Given the description of an element on the screen output the (x, y) to click on. 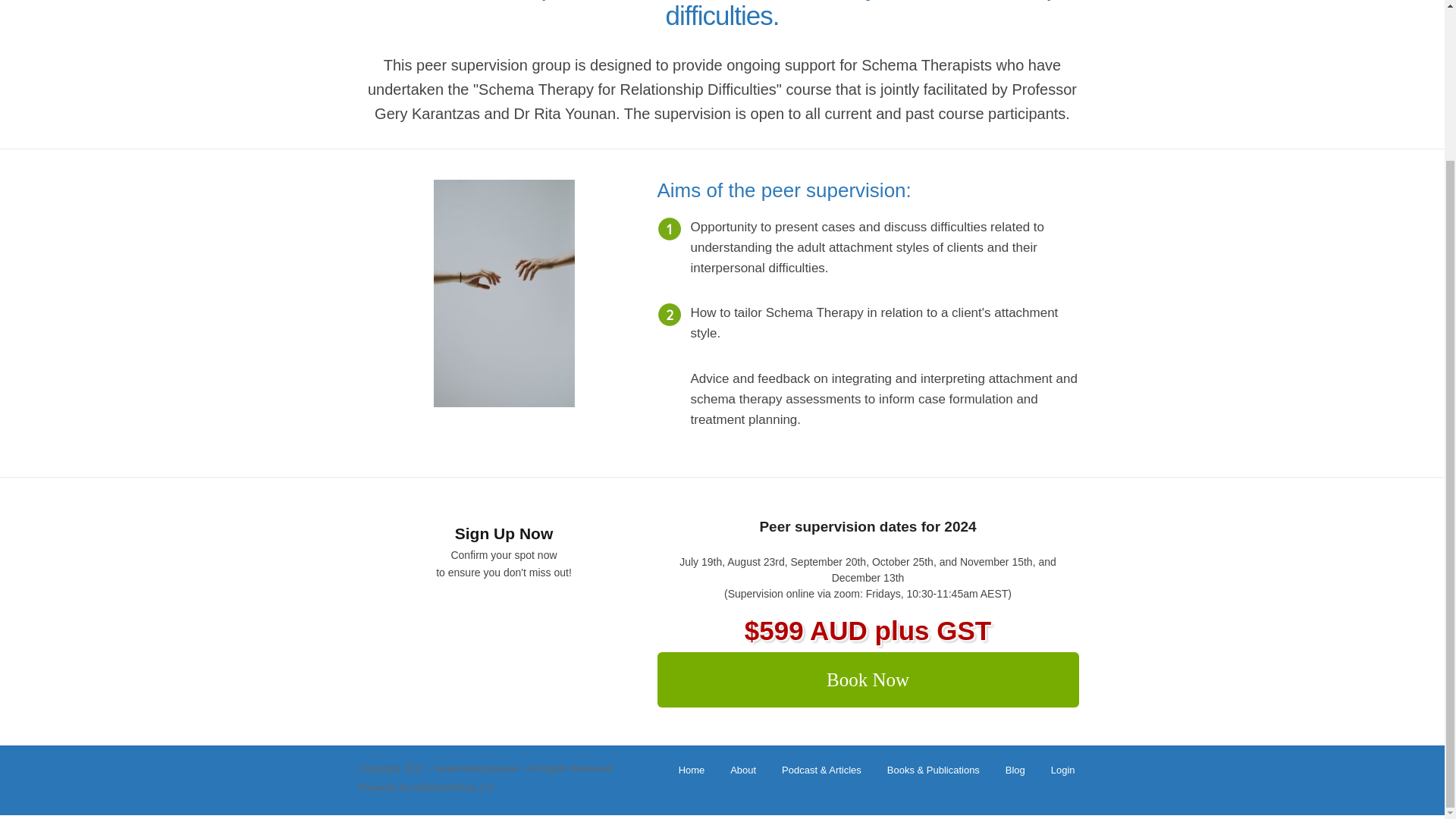
Powered by OptimizePress 2.0 (425, 787)
Book Now (867, 679)
About (742, 769)
Login (1063, 769)
Blog (1015, 769)
Home (691, 769)
